Given the description of an element on the screen output the (x, y) to click on. 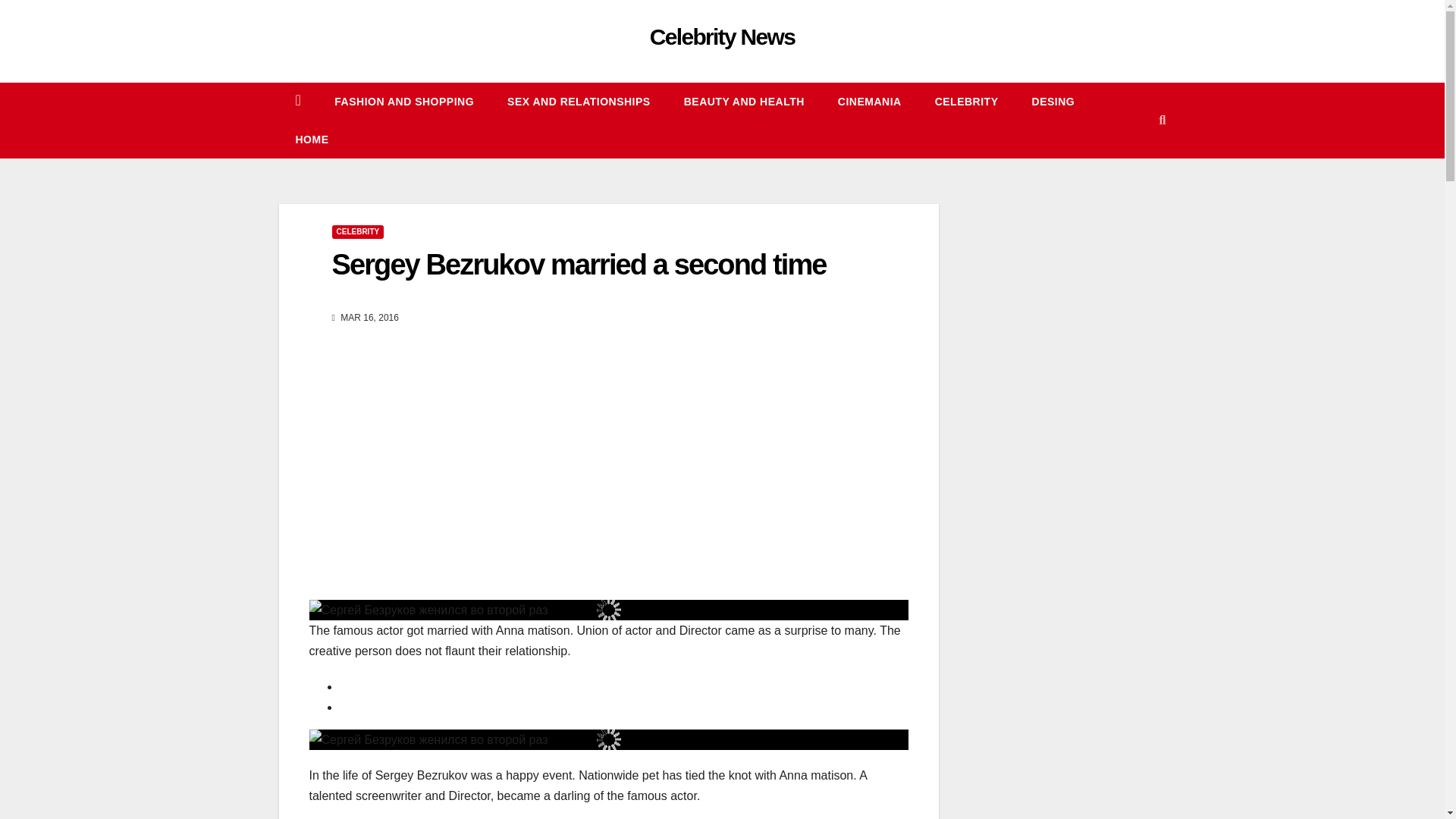
CELEBRITY (966, 101)
BEAUTY AND HEALTH (743, 101)
HOME (312, 139)
BEAUTY AND HEALTH (743, 101)
Permalink to: Sergey Bezrukov married a second time (579, 264)
Sergey Bezrukov married a second time (579, 264)
CELEBRITY (966, 101)
CINEMANIA (869, 101)
CELEBRITY (357, 232)
CINEMANIA (869, 101)
